Given the description of an element on the screen output the (x, y) to click on. 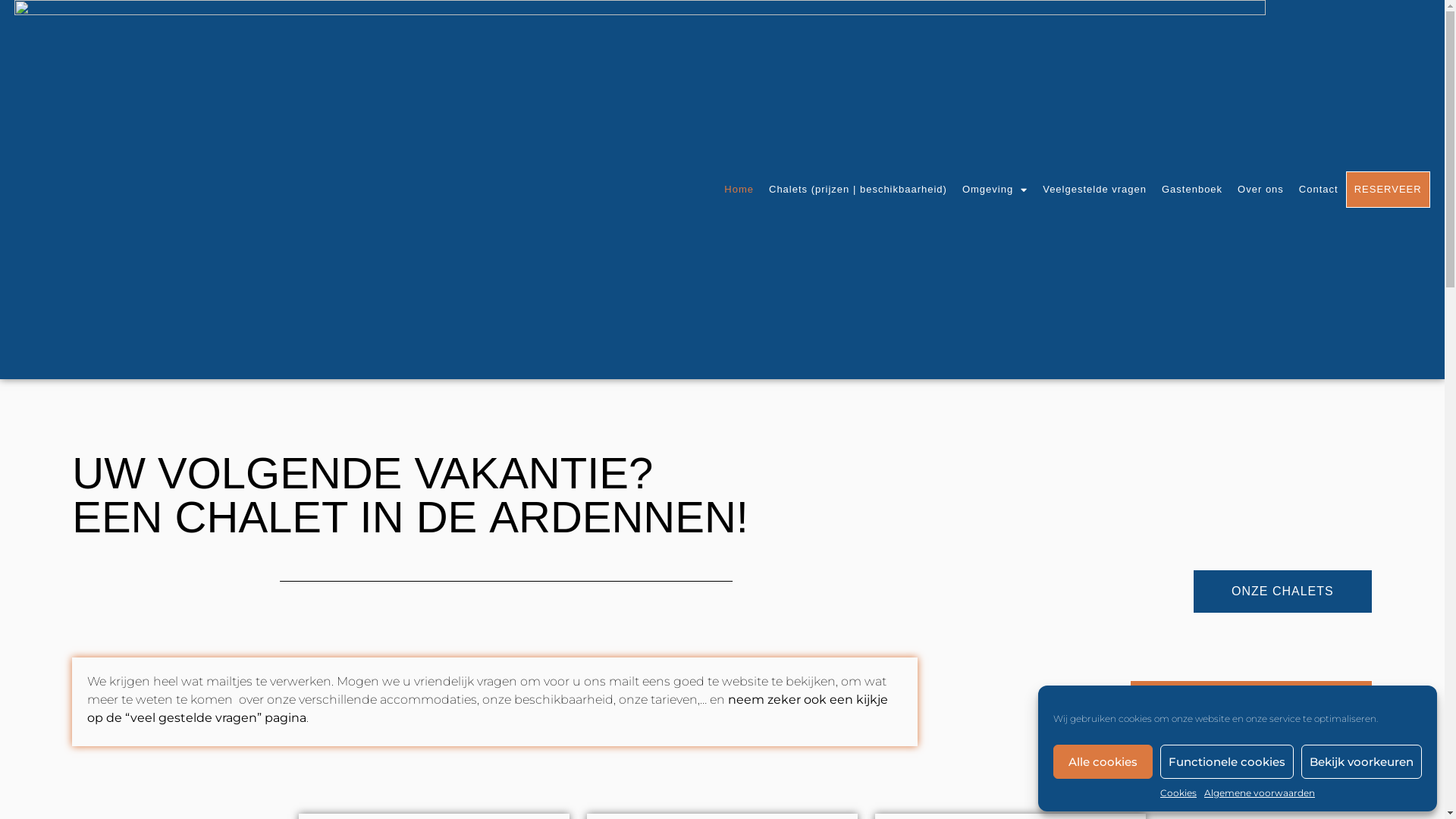
Home Element type: text (738, 189)
Contact Element type: text (1318, 189)
Over ons Element type: text (1260, 189)
VEELGESTELDE VRAGEN Element type: text (1250, 702)
Algemene voorwaarden Element type: text (1259, 793)
Omgeving Element type: text (994, 189)
Functionele cookies Element type: text (1226, 761)
Cookies Element type: text (1178, 793)
Veelgestelde vragen Element type: text (1094, 189)
Gastenboek Element type: text (1192, 189)
RESERVEER Element type: text (1387, 189)
Alle cookies Element type: text (1102, 761)
Chalets (prijzen | beschikbaarheid) Element type: text (857, 189)
Bekijk voorkeuren Element type: text (1361, 761)
ONZE CHALETS Element type: text (1282, 591)
